Given the description of an element on the screen output the (x, y) to click on. 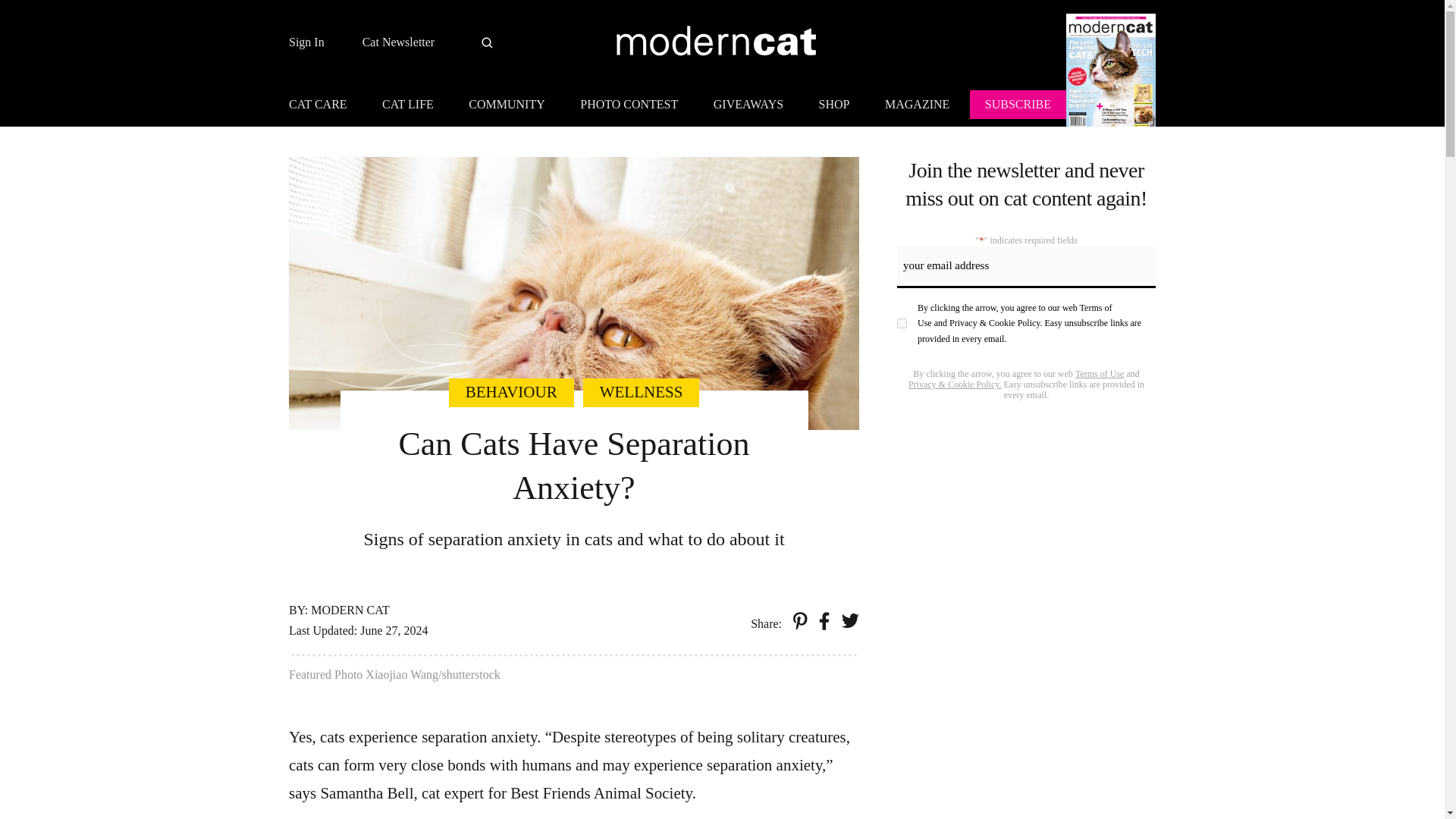
Sign In (306, 42)
Cat Newsletter (398, 42)
CAT LIFE (407, 106)
CAT CARE (325, 106)
